Given the description of an element on the screen output the (x, y) to click on. 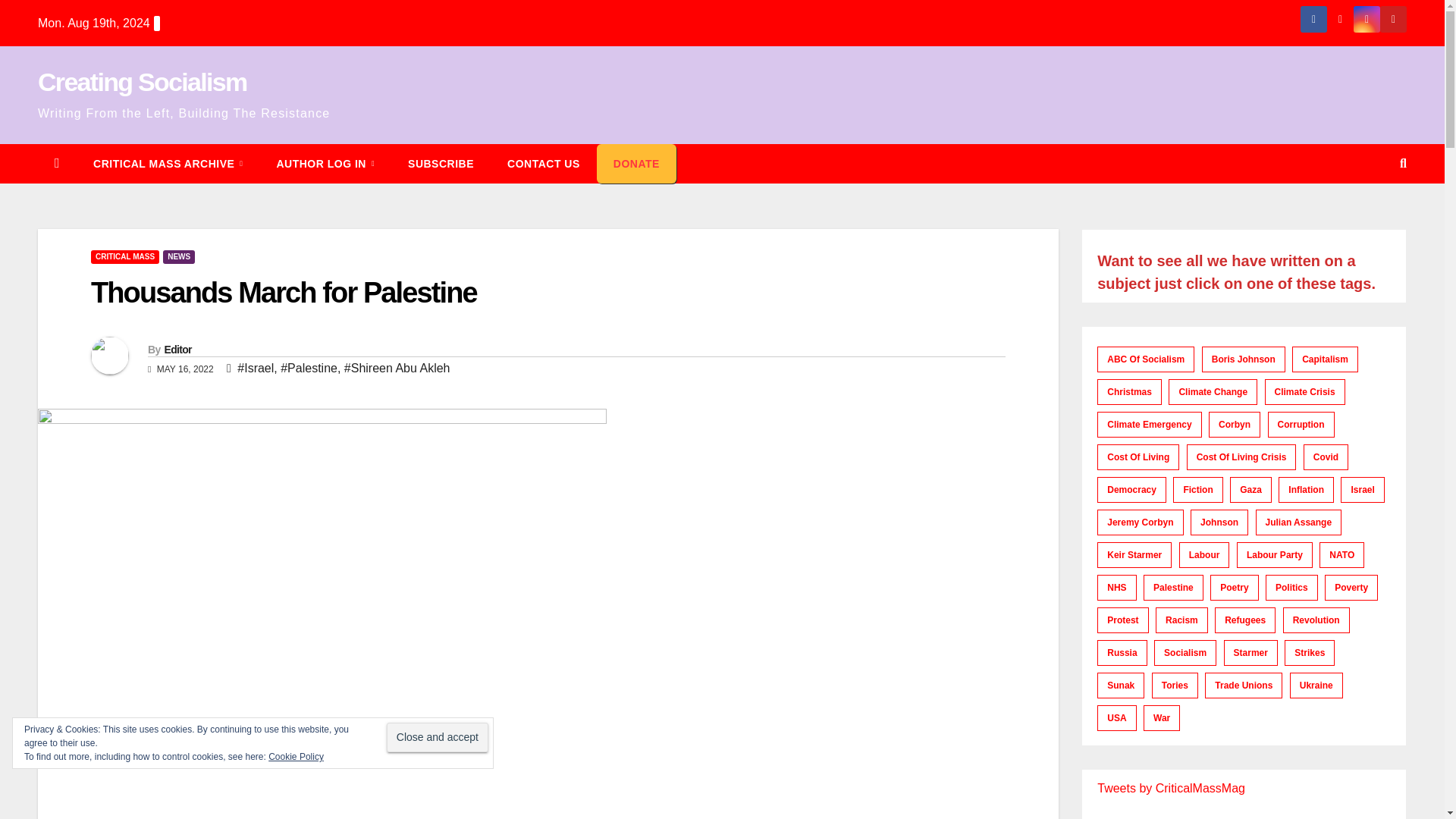
SUBSCRIBE (440, 163)
DONATE (636, 163)
Critical Mass Archive (168, 163)
CRITICAL MASS (124, 256)
Close and accept (437, 737)
AUTHOR LOG IN (325, 163)
CRITICAL MASS ARCHIVE (168, 163)
CONTACT US (543, 163)
NEWS (179, 256)
Thousands March for Palestine (283, 292)
